Given the description of an element on the screen output the (x, y) to click on. 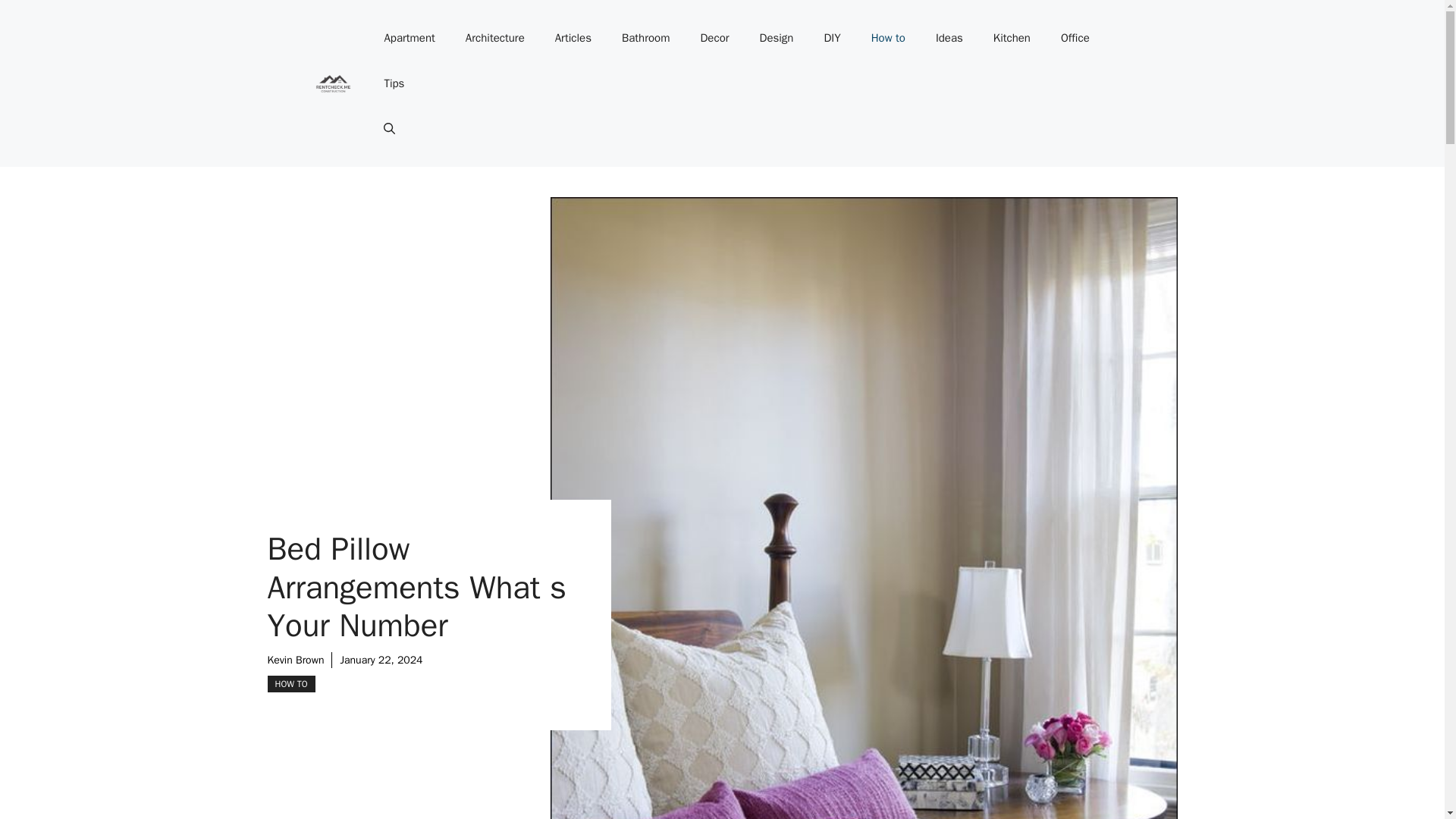
Ideas (949, 37)
Kevin Brown (294, 659)
Office (1075, 37)
Tips (393, 83)
Decor (714, 37)
Architecture (494, 37)
Apartment (408, 37)
HOW TO (290, 683)
How to (888, 37)
Bathroom (646, 37)
